Given the description of an element on the screen output the (x, y) to click on. 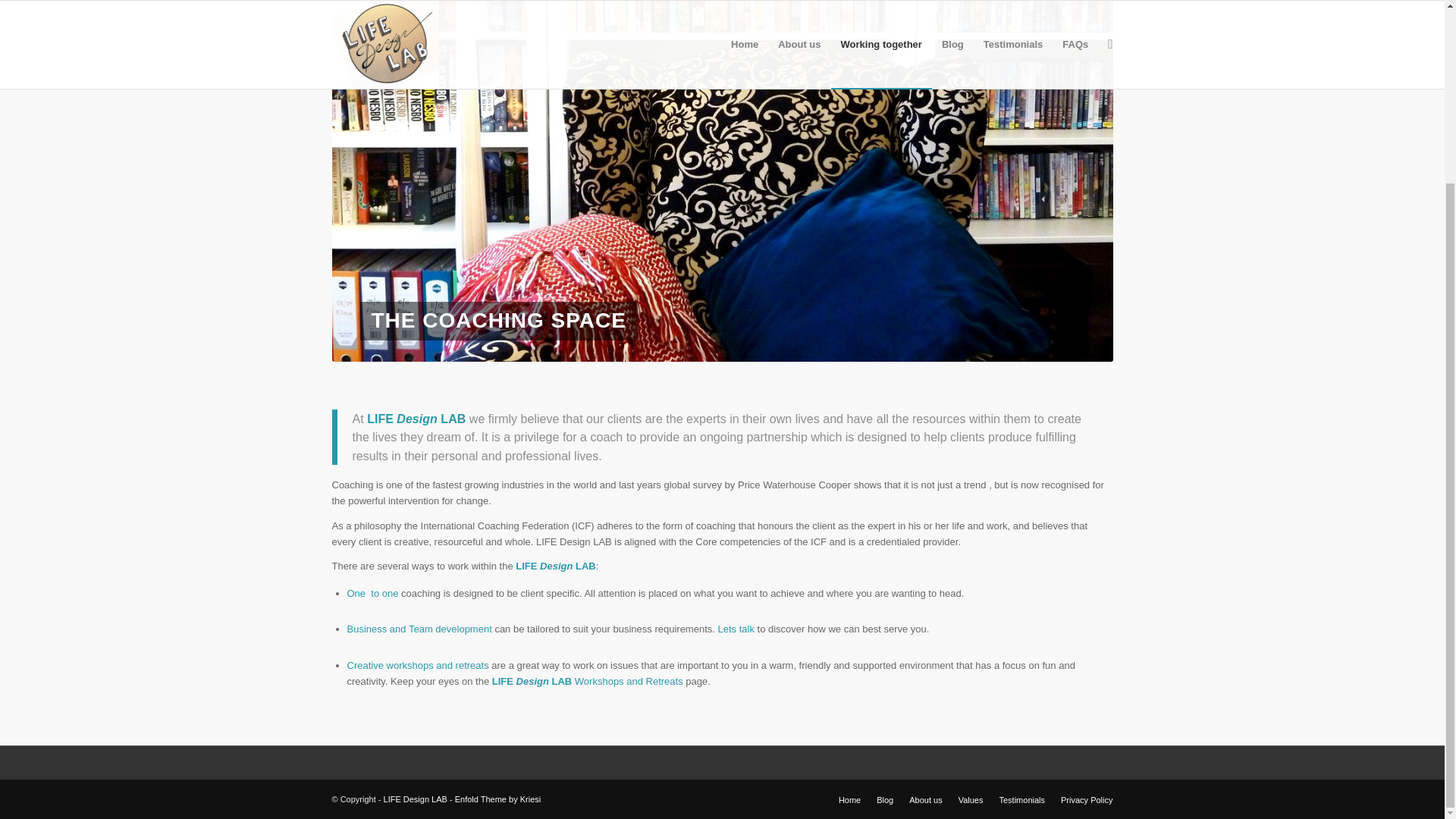
LIFE Design LAB (415, 798)
Lets talk (735, 628)
LIFE Design LAB Workshops and Retreats (587, 681)
Home (849, 799)
LIFE Design LAB Workshops and Retreats (418, 665)
Values (971, 799)
LIFE Design LAB Workshops and Retreats (587, 681)
One to One (372, 593)
One  to one (372, 593)
Business and Team development (419, 628)
Creative workshops and retreats (418, 665)
About us (925, 799)
Blog (884, 799)
Testimonials (1021, 799)
